Given the description of an element on the screen output the (x, y) to click on. 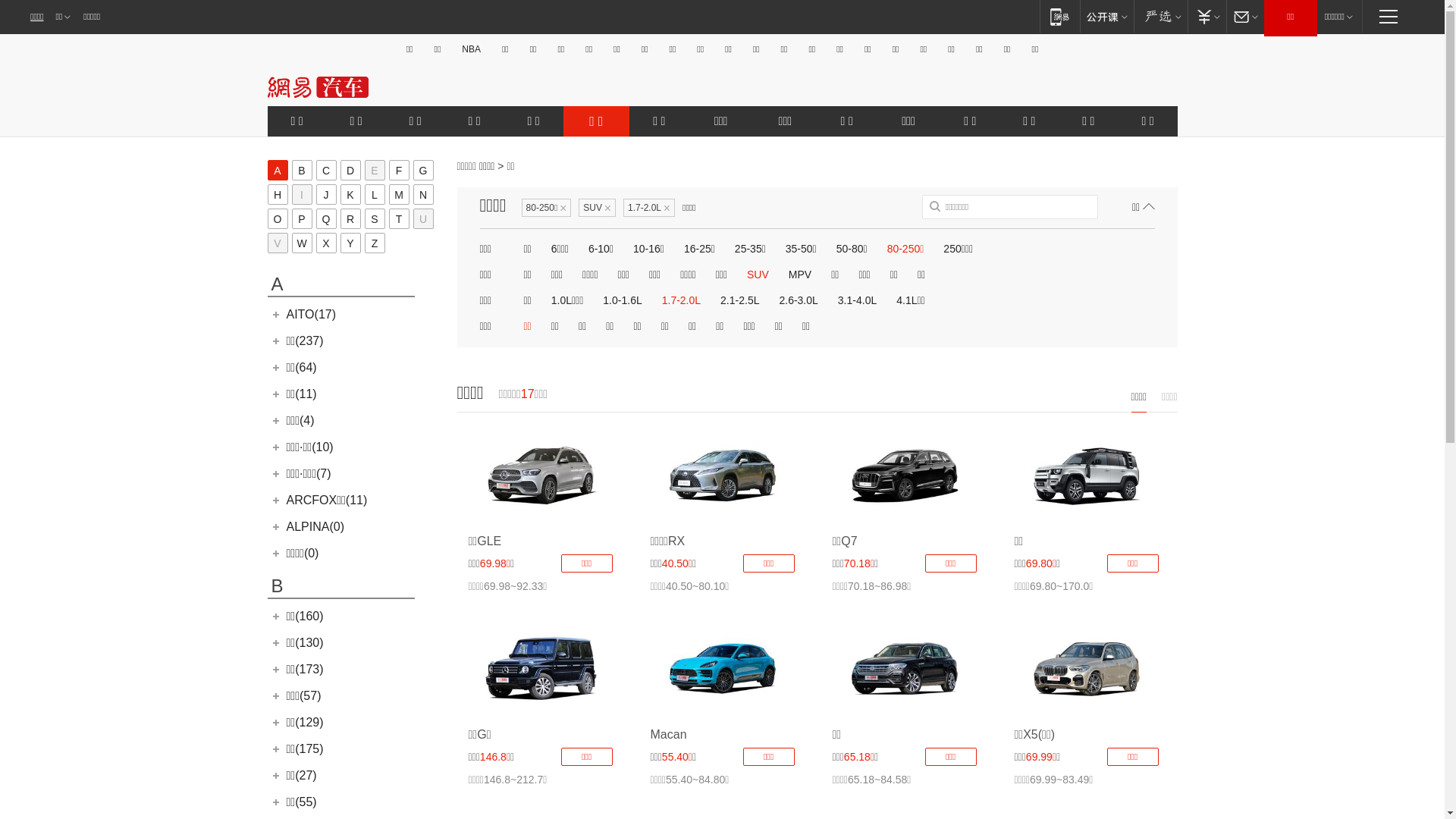
G Element type: text (422, 170)
2.6-3.0L Element type: text (797, 300)
J Element type: text (325, 194)
L Element type: text (374, 194)
X Element type: text (325, 242)
M Element type: text (398, 194)
1.0-1.6L Element type: text (621, 300)
W Element type: text (301, 242)
Z Element type: text (374, 242)
1.7-2.0L Element type: text (680, 300)
O Element type: text (276, 218)
T Element type: text (398, 218)
R Element type: text (349, 218)
N Element type: text (422, 194)
ALPINA(0) Element type: text (315, 526)
3.1-4.0L Element type: text (856, 300)
U Element type: text (422, 218)
E Element type: text (374, 170)
V Element type: text (276, 242)
Y Element type: text (349, 242)
H Element type: text (276, 194)
AITO(17) Element type: text (311, 313)
Macan Element type: text (668, 734)
C Element type: text (325, 170)
Macan Element type: hover (722, 668)
A Element type: text (276, 170)
I Element type: text (301, 194)
SUV Element type: text (757, 274)
P Element type: text (301, 218)
B Element type: text (301, 170)
S Element type: text (374, 218)
K Element type: text (349, 194)
2.1-2.5L Element type: text (739, 300)
MPV Element type: text (799, 274)
Q Element type: text (325, 218)
NBA Element type: text (471, 48)
D Element type: text (349, 170)
F Element type: text (398, 170)
